Given the description of an element on the screen output the (x, y) to click on. 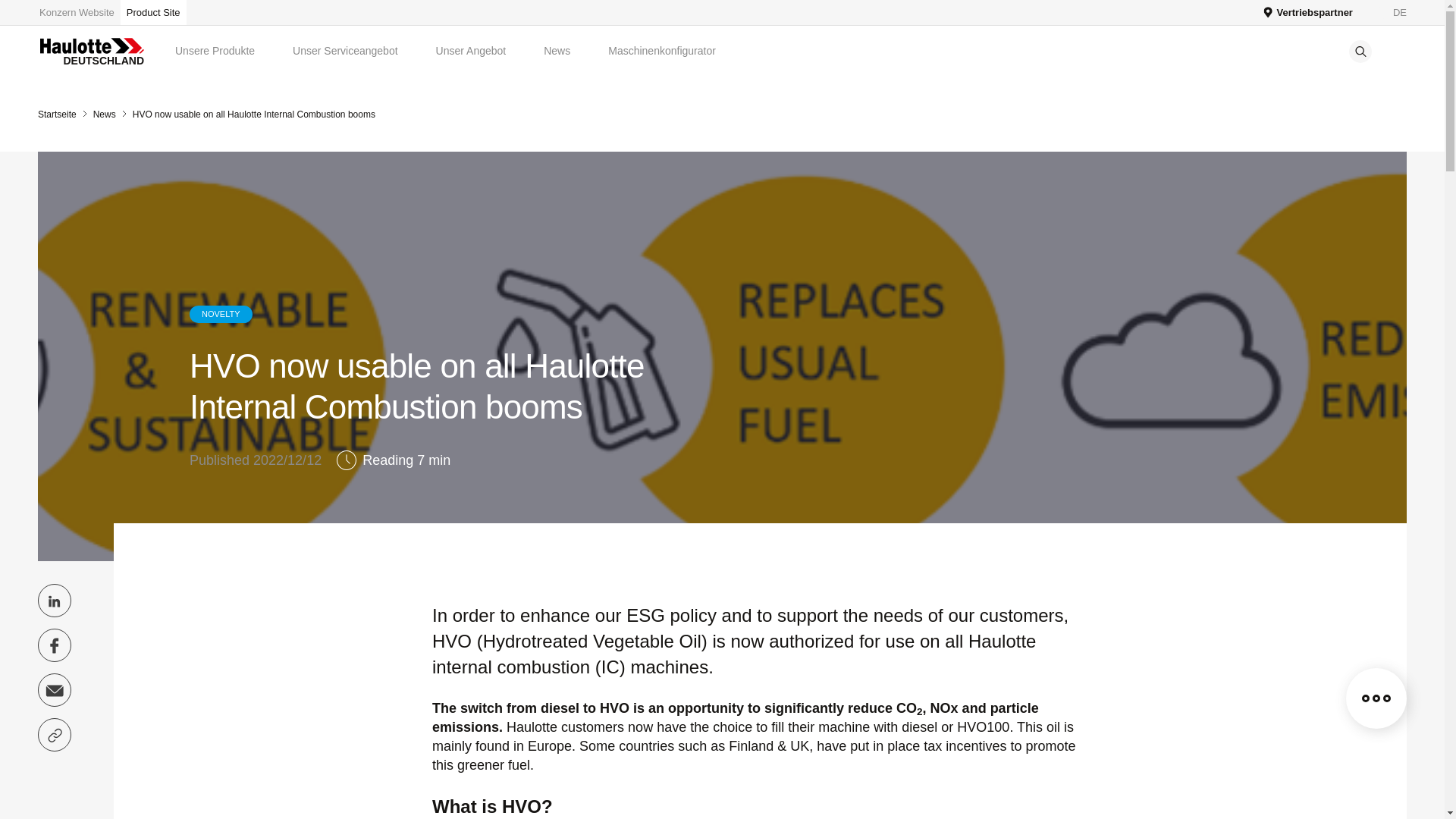
Maschinenkonfigurator (662, 50)
Alle Produkte durchsuchen (79, 12)
Unser Angebot (470, 50)
Unser Serviceangebot (344, 50)
News (556, 50)
Unsere Produkte (214, 50)
